Given the description of an element on the screen output the (x, y) to click on. 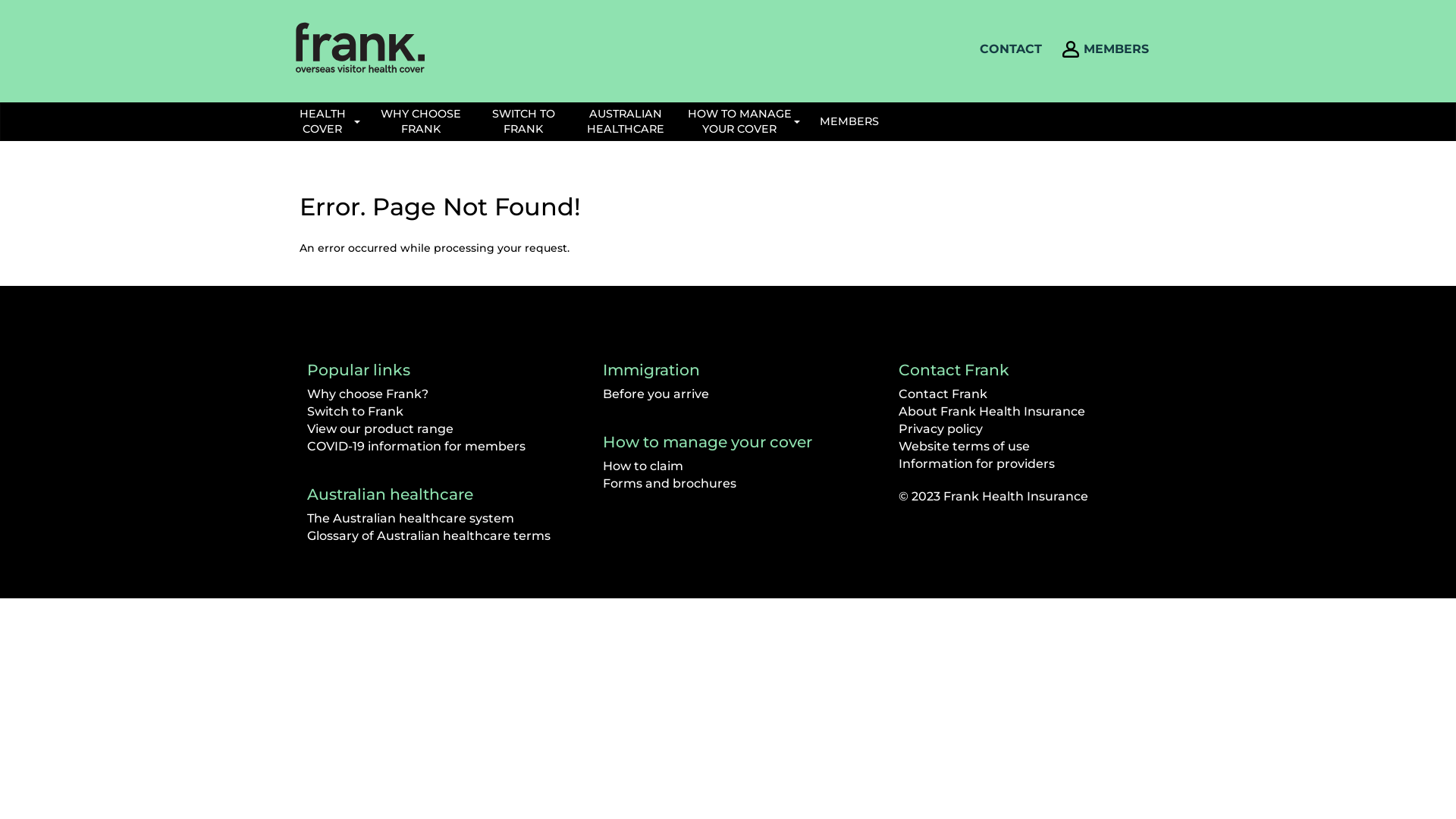
CONTACT Element type: text (1010, 49)
HOW TO MANAGE YOUR COVER Element type: text (742, 121)
The Australian healthcare system Element type: text (410, 518)
COVID-19 information for members Element type: text (416, 446)
How to claim Element type: text (642, 465)
MEMBERS Element type: text (849, 121)
Before you arrive Element type: text (655, 393)
Switch to Frank Element type: text (355, 411)
HEALTH COVER Element type: text (325, 121)
Contact Frank Element type: text (942, 393)
Information for providers Element type: text (976, 463)
Privacy policy Element type: text (940, 428)
Glossary of Australian healthcare terms Element type: text (428, 535)
View our product range Element type: text (380, 428)
About Frank Health Insurance Element type: text (991, 411)
Website terms of use Element type: text (963, 446)
Frank Health Insurance Element type: text (359, 47)
WHY CHOOSE FRANK Element type: text (420, 121)
Why choose Frank? Element type: text (367, 393)
Forms and brochures Element type: text (669, 483)
AUSTRALIAN HEALTHCARE Element type: text (625, 121)
SWITCH TO FRANK Element type: text (522, 121)
MEMBERS Element type: text (1115, 49)
